Given the description of an element on the screen output the (x, y) to click on. 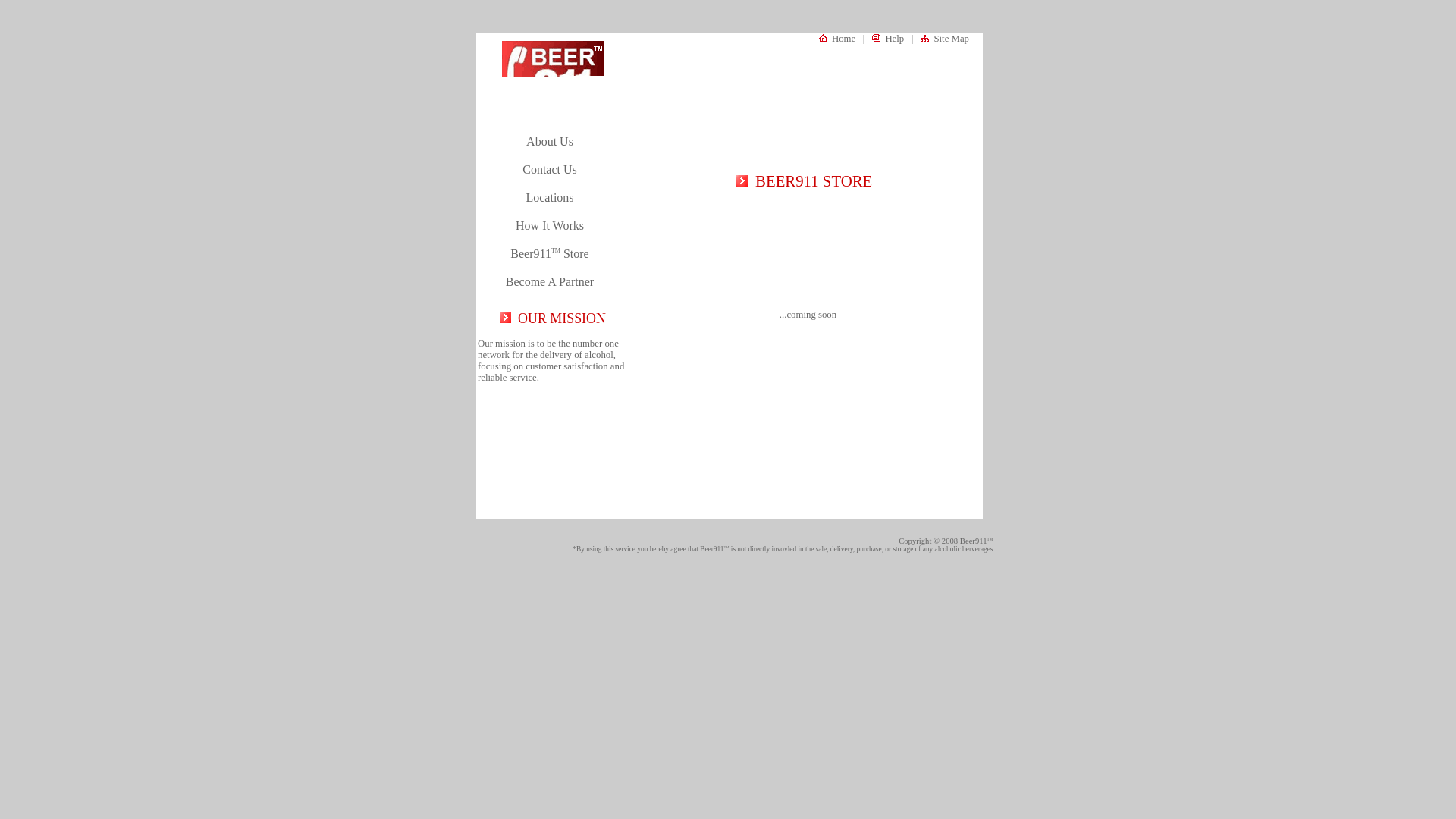
Contact Us (549, 169)
  Home (837, 38)
  Help (888, 38)
  Site Map (944, 38)
About Us (549, 141)
Beer911TM Store (549, 253)
How It Works (549, 225)
Become A Partner (549, 281)
Locations (549, 196)
